Given the description of an element on the screen output the (x, y) to click on. 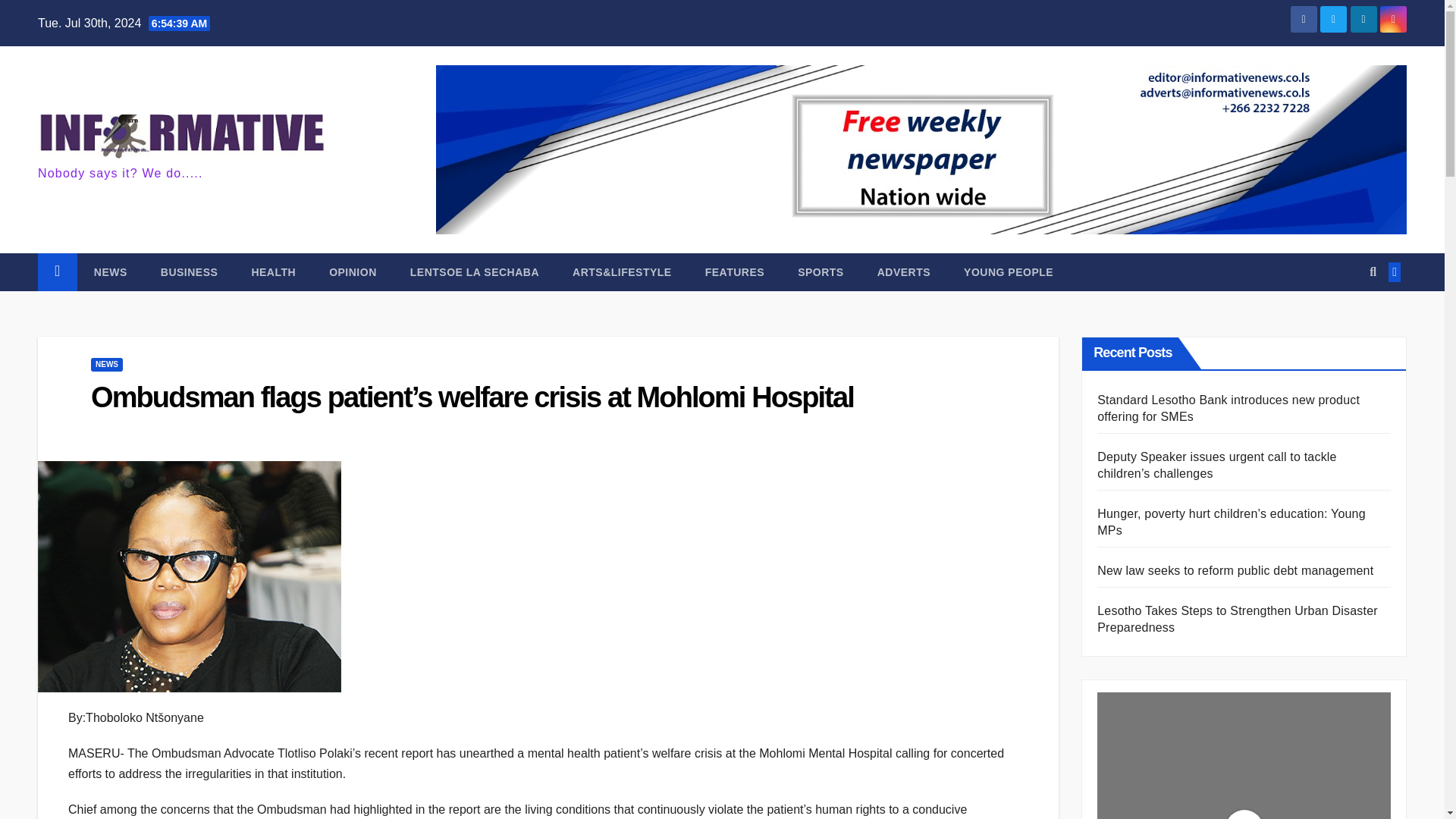
FEATURES (734, 272)
Health (273, 272)
Features (734, 272)
Sports (820, 272)
SPORTS (820, 272)
News (110, 272)
New law seeks to reform public debt management (1235, 570)
ADVERTS (903, 272)
NEWS (110, 272)
LENTSOE LA SECHABA (474, 272)
NEWS (106, 364)
Lentsoe la Sechaba (474, 272)
YOUNG PEOPLE (1008, 272)
ADVERTS (903, 272)
Opinion (353, 272)
